Given the description of an element on the screen output the (x, y) to click on. 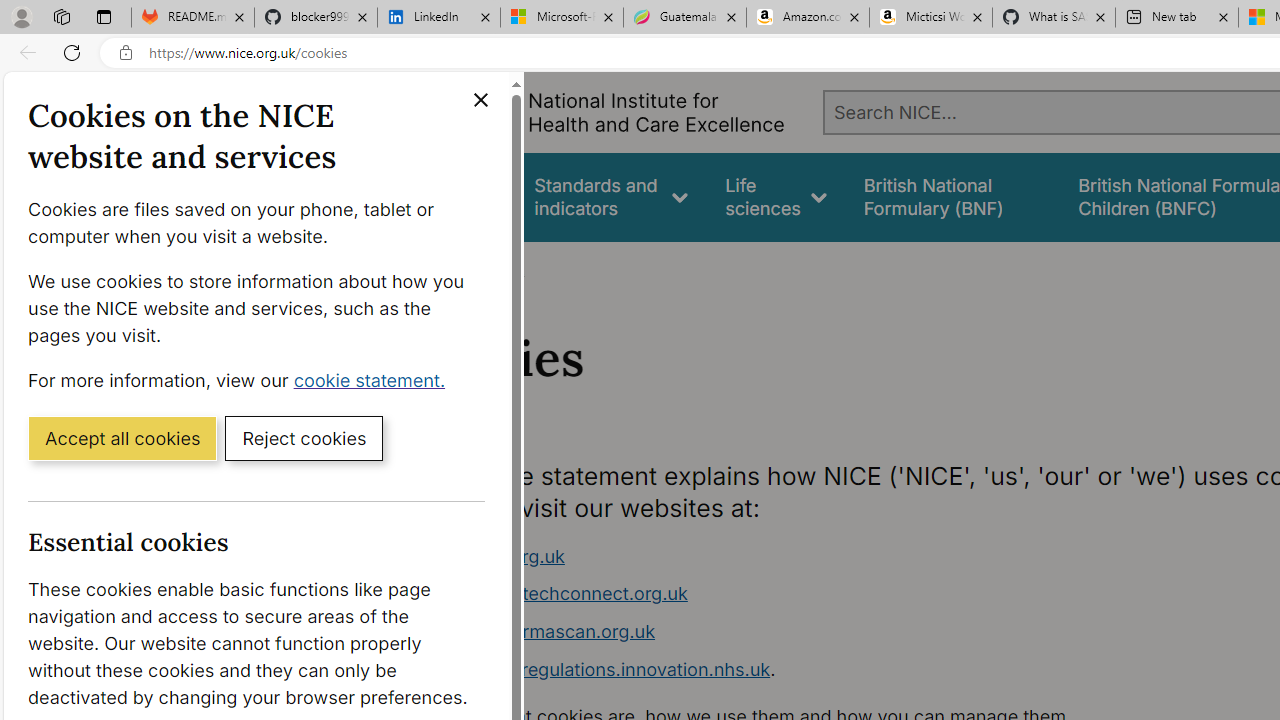
Accept all cookies (122, 437)
About (498, 268)
www.healthtechconnect.org.uk (796, 594)
cookie statement. (Opens in a new window) (373, 379)
www.ukpharmascan.org.uk (796, 632)
